Given the description of an element on the screen output the (x, y) to click on. 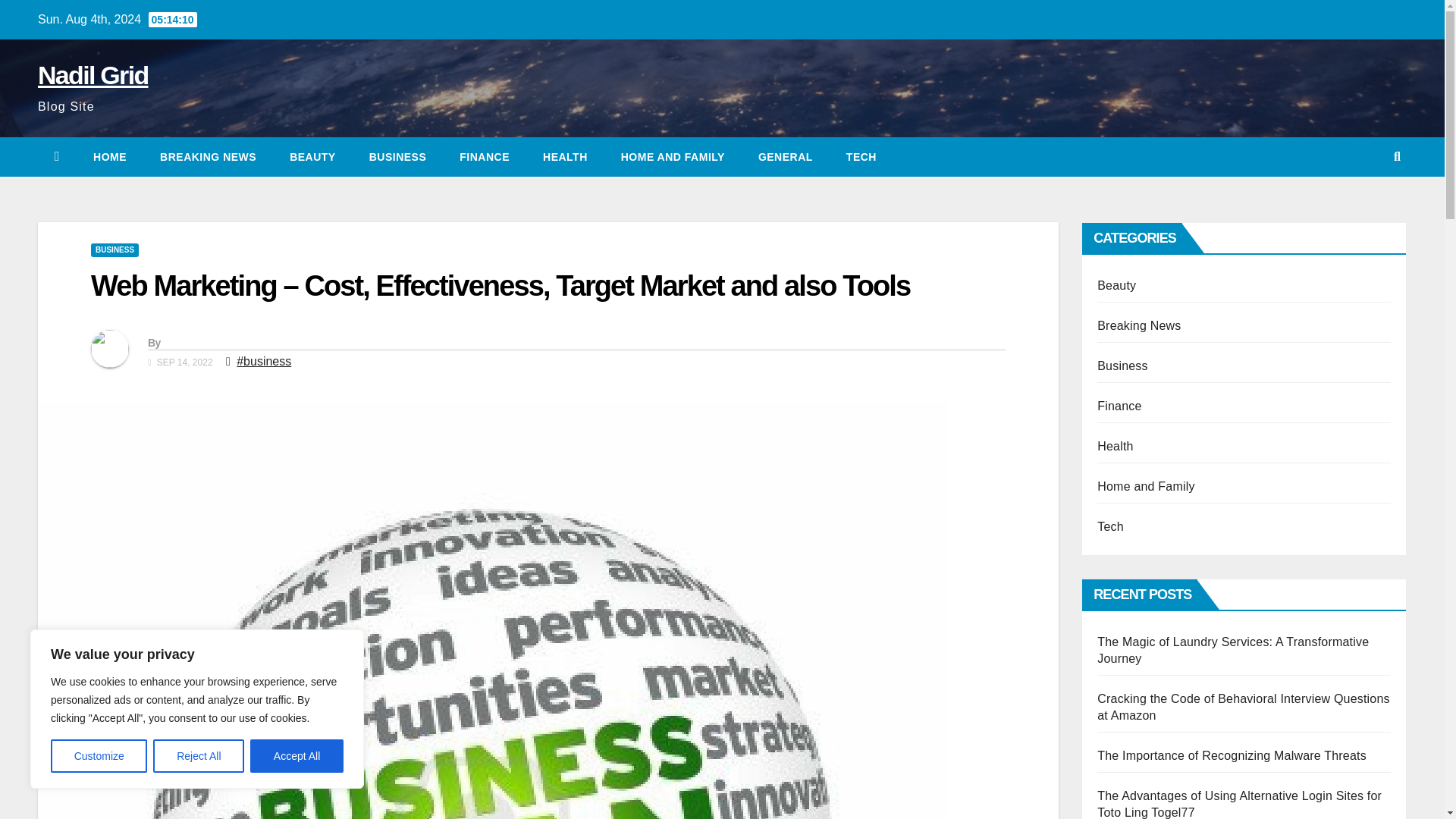
Home (109, 156)
Business (398, 156)
Customize (98, 756)
TECH (861, 156)
Nadil Grid (92, 74)
Tech (861, 156)
FINANCE (483, 156)
Reject All (198, 756)
BEAUTY (312, 156)
BUSINESS (114, 250)
